Given the description of an element on the screen output the (x, y) to click on. 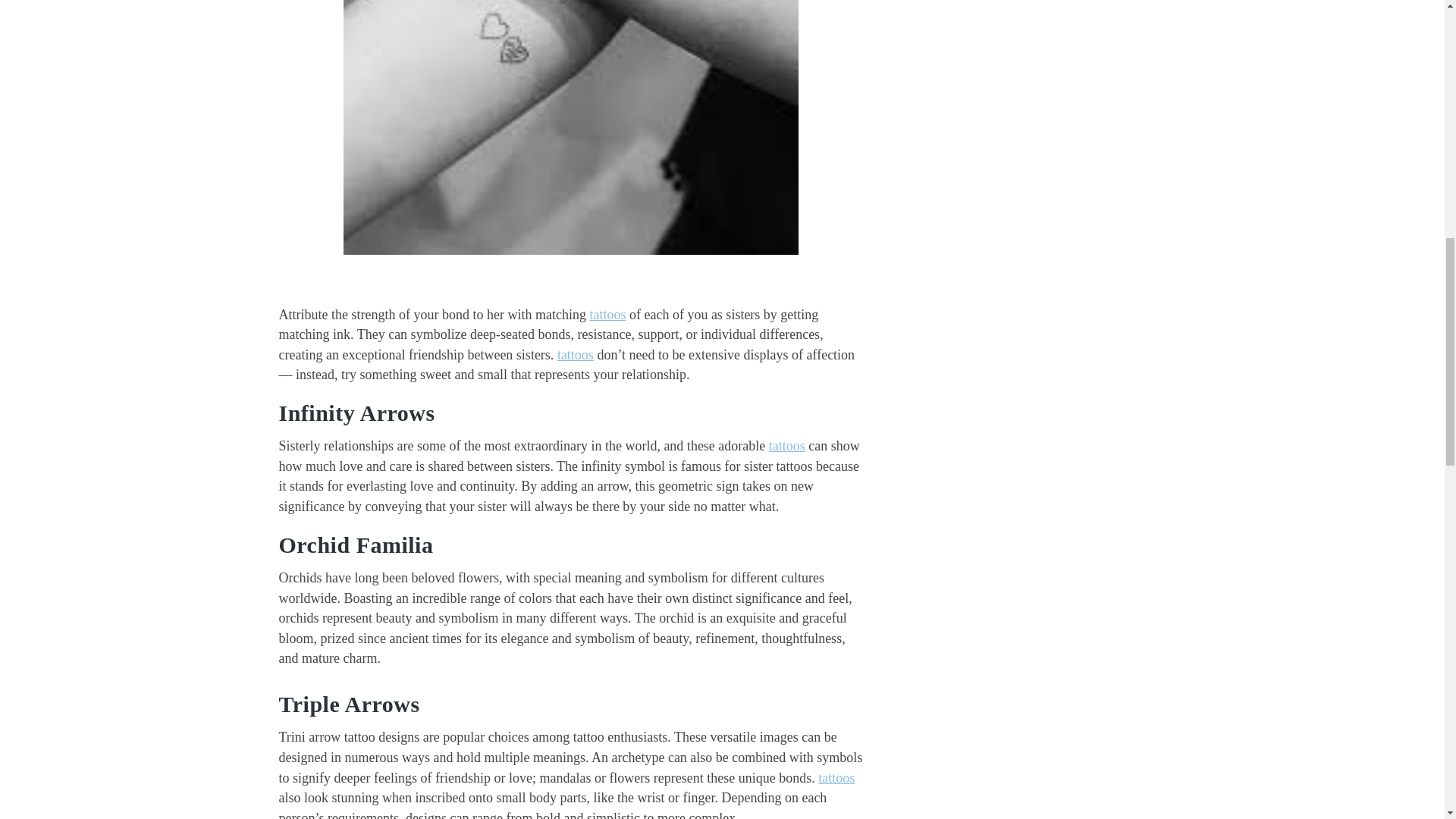
Advertisement (1025, 36)
tattoos (836, 777)
tattoos (575, 354)
tattoos (786, 445)
tattoos (607, 314)
